Given the description of an element on the screen output the (x, y) to click on. 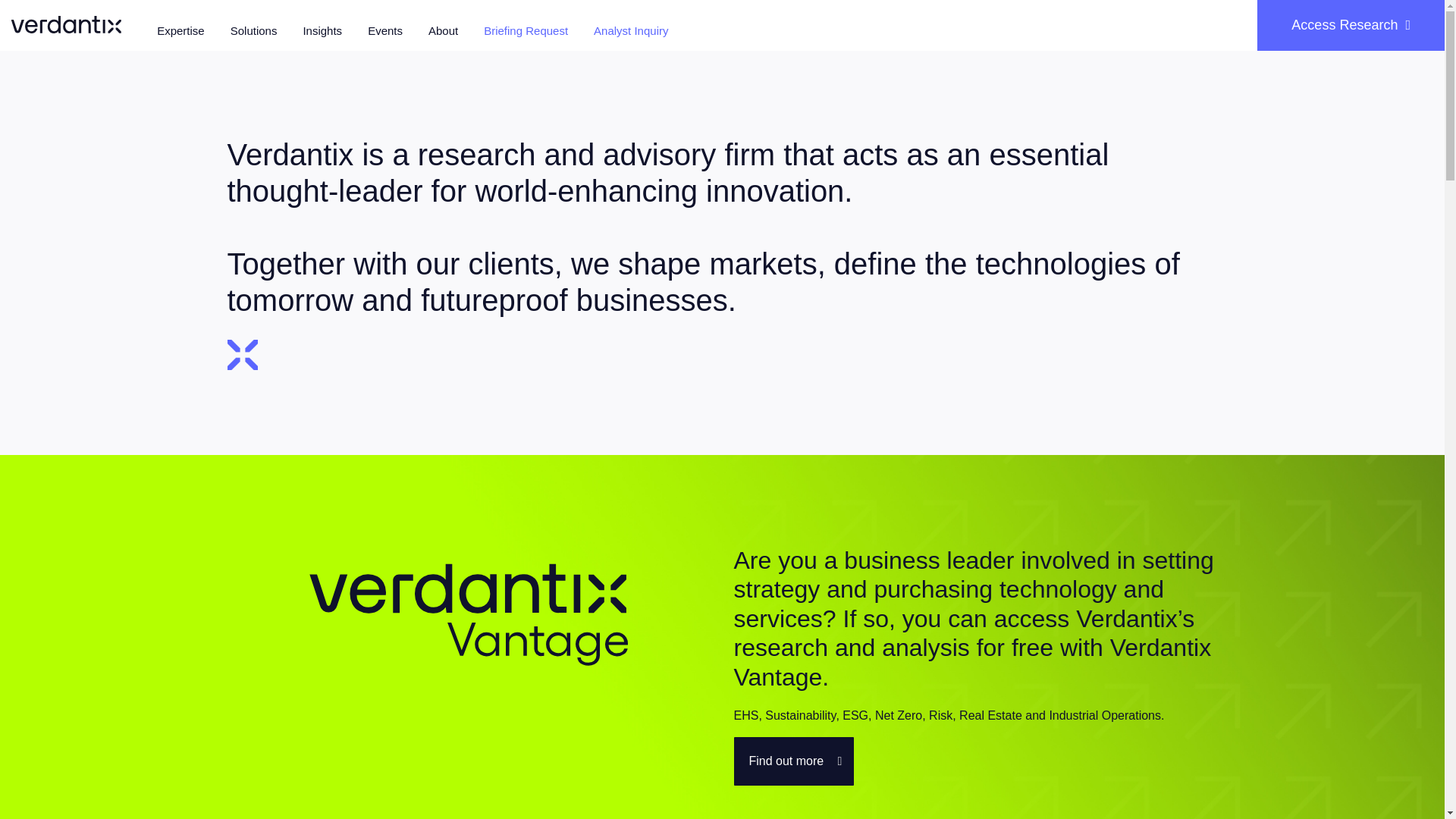
Insights (322, 31)
Briefing Request (525, 31)
Events (385, 31)
Solutions (253, 31)
Verdantix Vantage Logo (468, 615)
Analyst Inquiry (630, 31)
Expertise (180, 31)
About (443, 31)
